Given the description of an element on the screen output the (x, y) to click on. 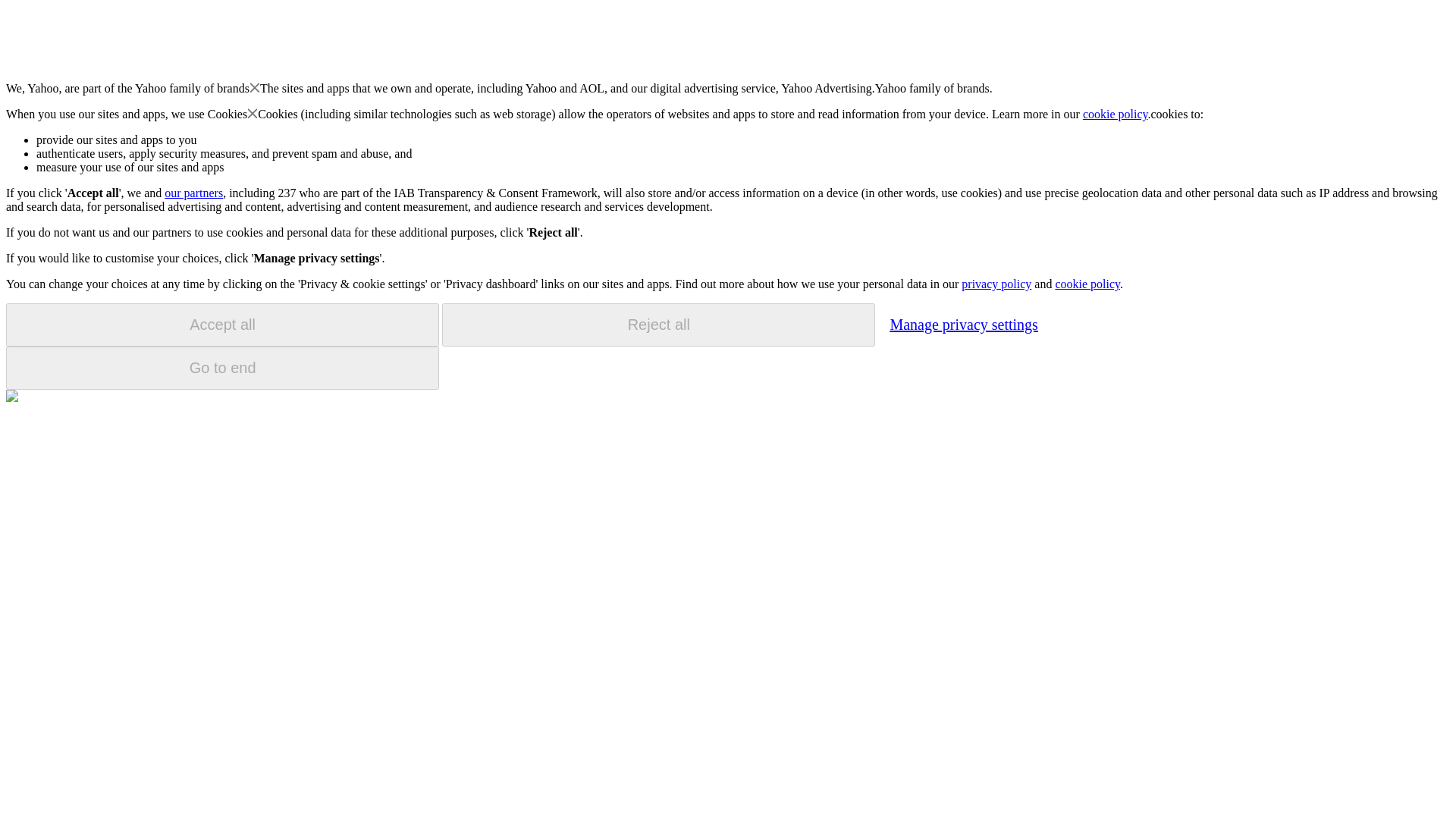
Go to end (222, 367)
Accept all (222, 324)
Reject all (658, 324)
cookie policy (1115, 113)
our partners (193, 192)
Manage privacy settings (963, 323)
privacy policy (995, 283)
cookie policy (1086, 283)
